Given the description of an element on the screen output the (x, y) to click on. 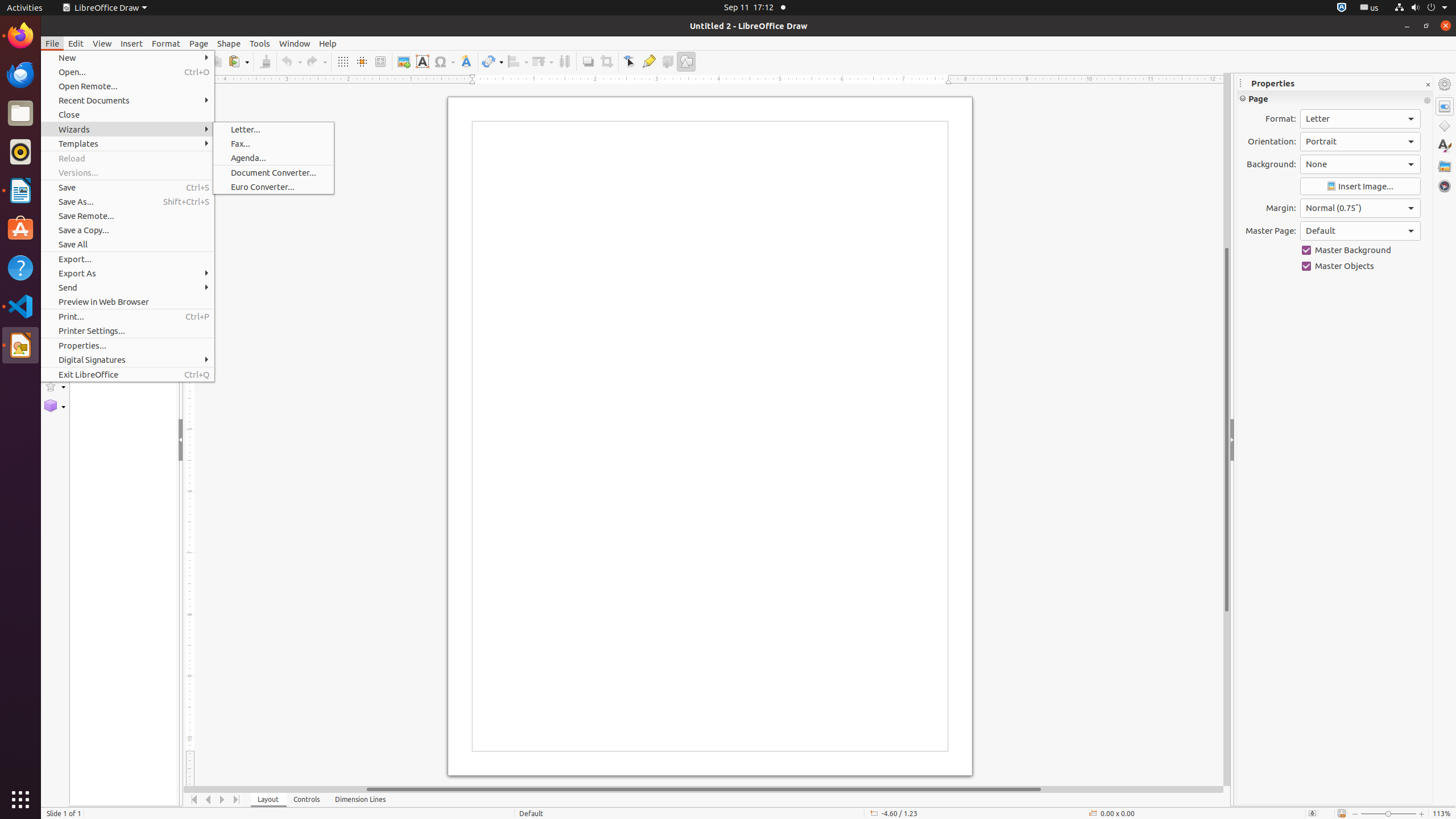
Edit Points Element type: push-button (629, 61)
Save Remote... Element type: menu-item (127, 215)
Insert Element type: menu (131, 43)
Symbol Element type: push-button (443, 61)
Arrange Element type: push-button (542, 61)
